Given the description of an element on the screen output the (x, y) to click on. 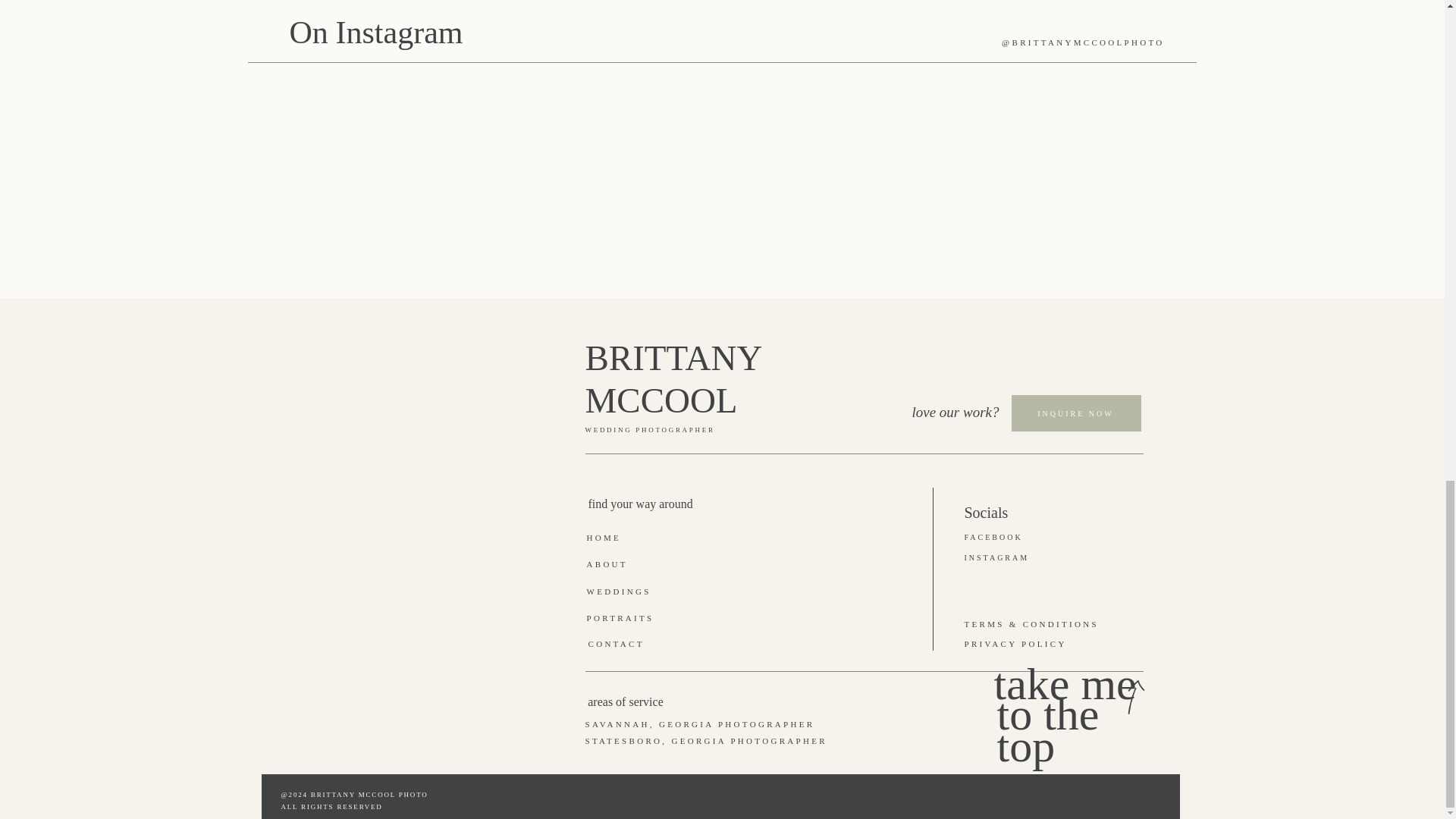
HOME (627, 538)
PORTRAITS (634, 618)
INQUIRE NOW (1075, 421)
SAVANNAH, GEORGIA PHOTOGRAPHER (716, 725)
STATESBORO, GEORGIA PHOTOGRAPHER (730, 741)
WEDDINGS (627, 592)
CONTACT (629, 644)
INSTAGRAM (1010, 558)
FACEBOOK (1006, 538)
to the top (1080, 735)
ABOUT (614, 564)
PRIVACY POLICY (1039, 644)
take me (1076, 705)
